Given the description of an element on the screen output the (x, y) to click on. 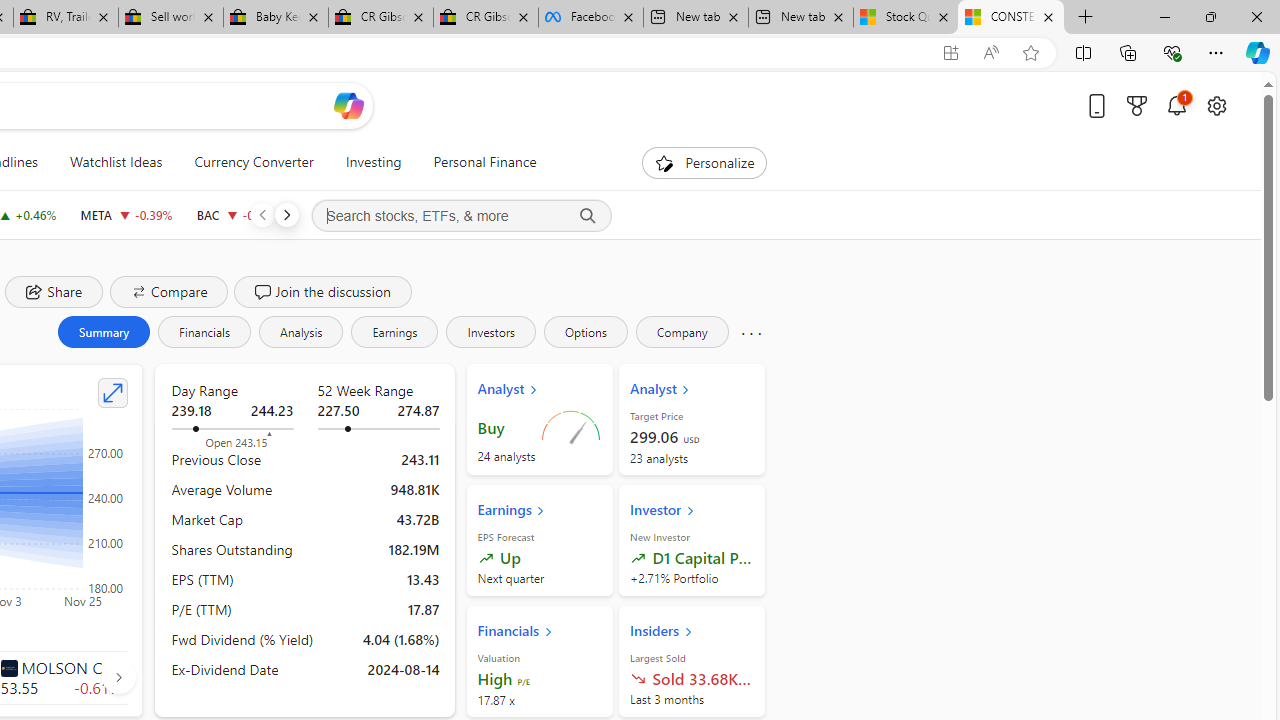
Watchlist Ideas (115, 162)
Earnings (394, 331)
Currency Converter (253, 162)
Analysis (301, 331)
Currency Converter (253, 162)
Previous (262, 214)
Personal Finance (484, 162)
Personal Finance (477, 162)
